Given the description of an element on the screen output the (x, y) to click on. 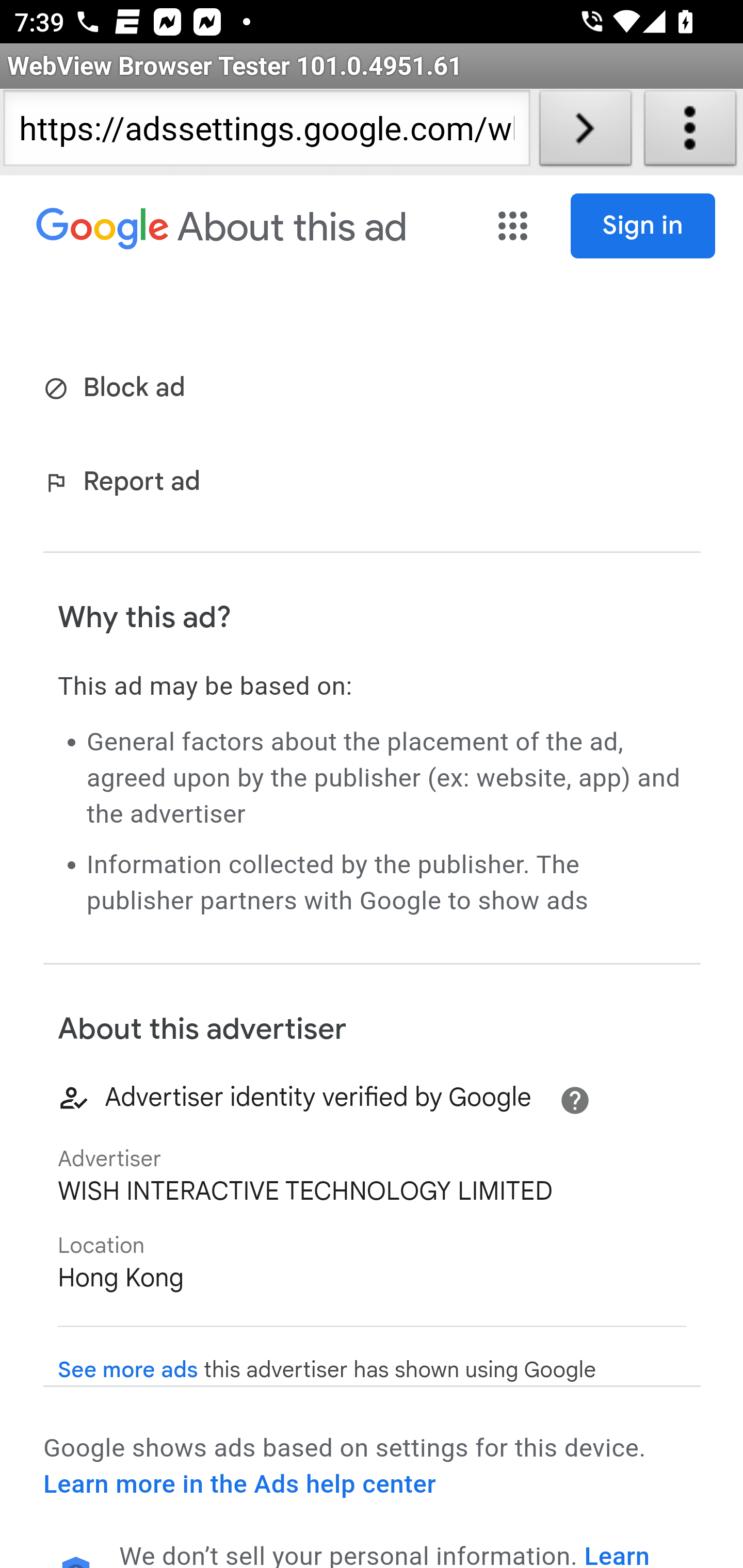
https://adssettings.google.com/whythisad (266, 132)
Load URL (585, 132)
About WebView (690, 132)
Google apps (513, 226)
Sign in (643, 226)
Block ad (117, 388)
Report ad (opens in new tab) Report ad (126, 483)
See more ads (opens in new tab) See more ads (127, 1370)
Learn more in the Ads help center (239, 1483)
Learn how ad personalization works (384, 1553)
